Given the description of an element on the screen output the (x, y) to click on. 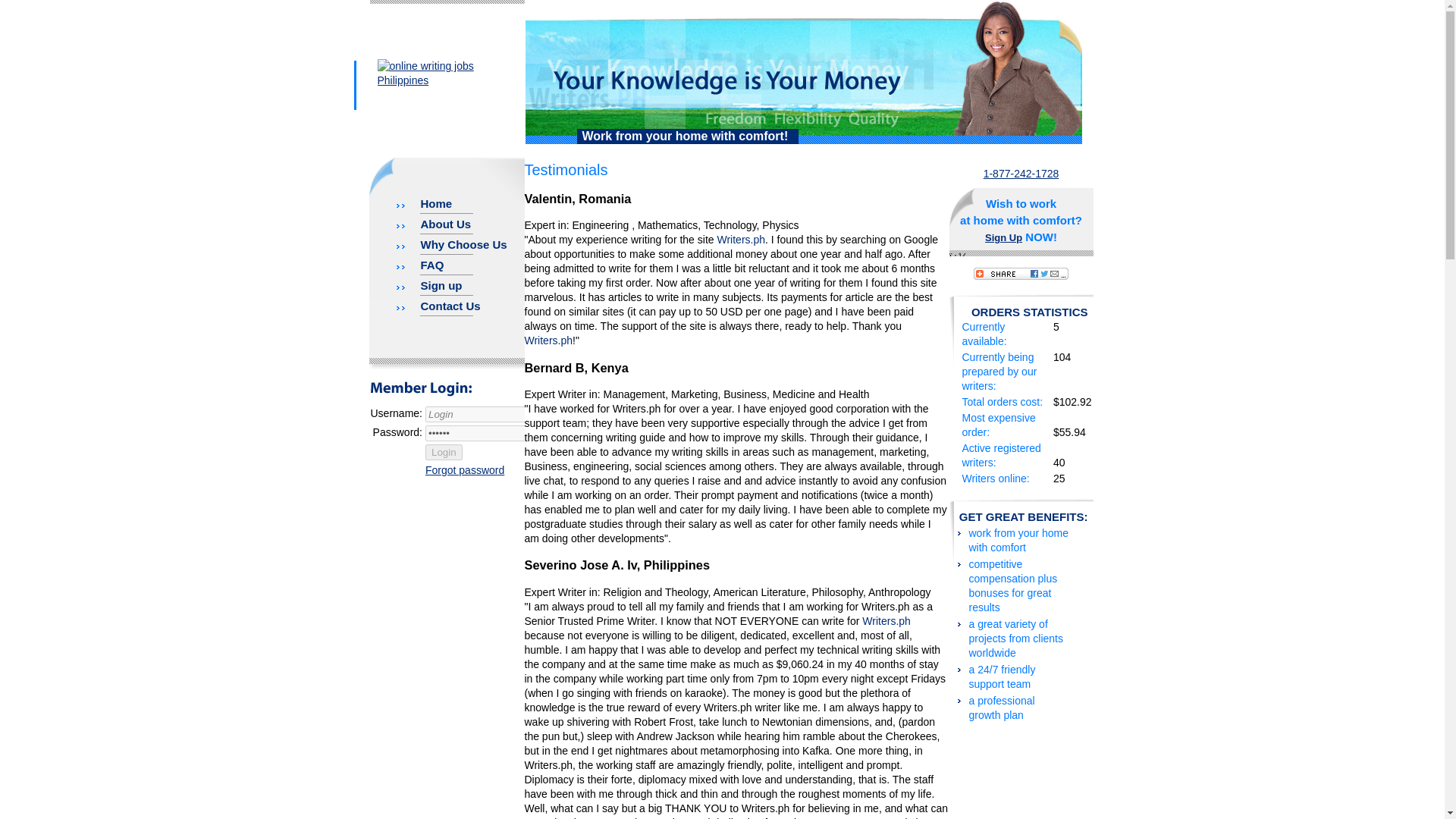
Writers.ph (740, 239)
Forgot password (464, 469)
Writers.ph (886, 621)
FAQ (420, 264)
Home (423, 203)
1-877-242-1728 (1021, 173)
Contact Us (438, 305)
About Us (433, 223)
Login (475, 414)
Sign up (428, 285)
